Given the description of an element on the screen output the (x, y) to click on. 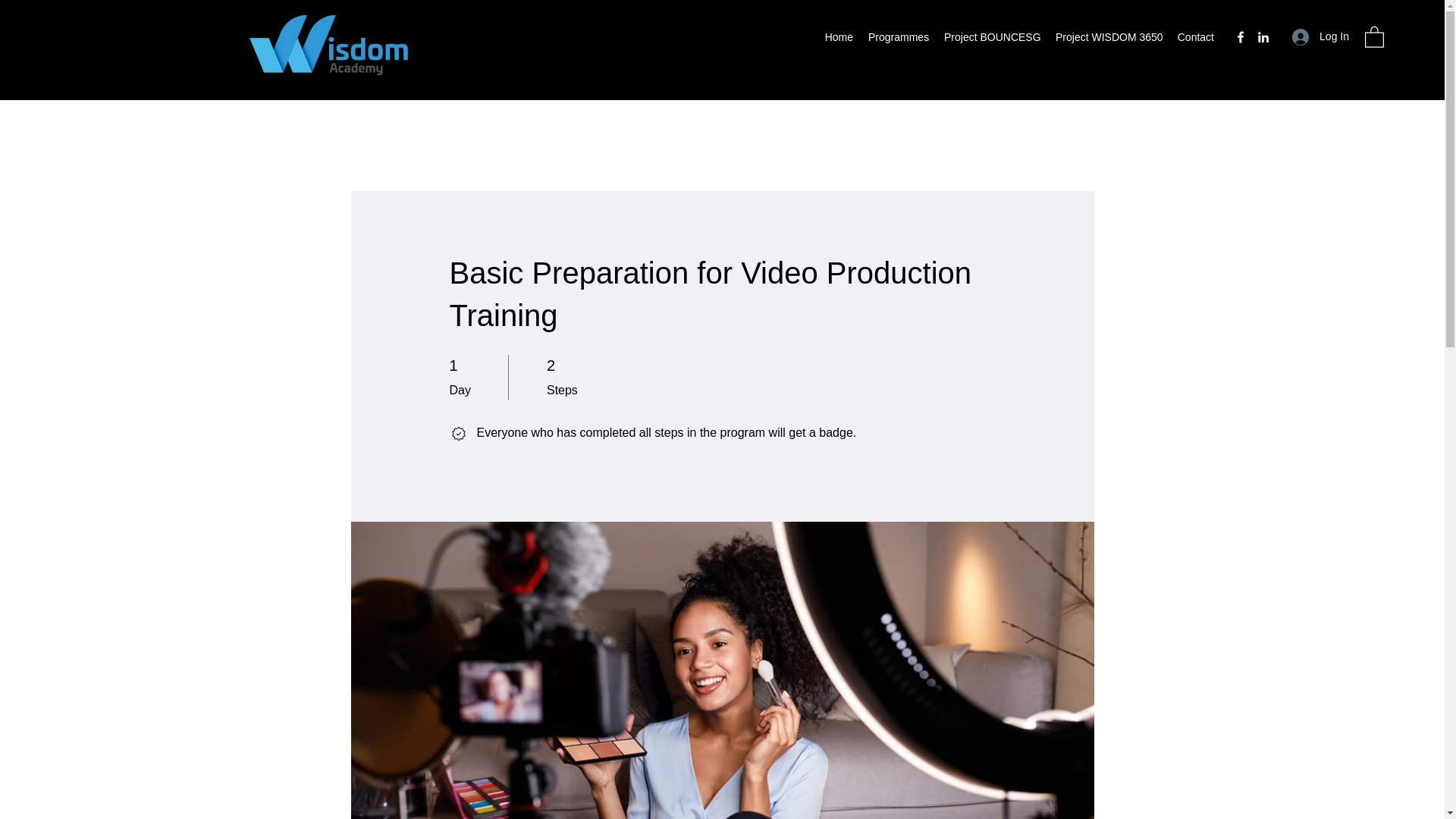
Log In (1320, 36)
Project WISDOM 3650 (1108, 36)
Programmes (898, 36)
Contact (1195, 36)
Project BOUNCESG (992, 36)
Home (838, 36)
